Given the description of an element on the screen output the (x, y) to click on. 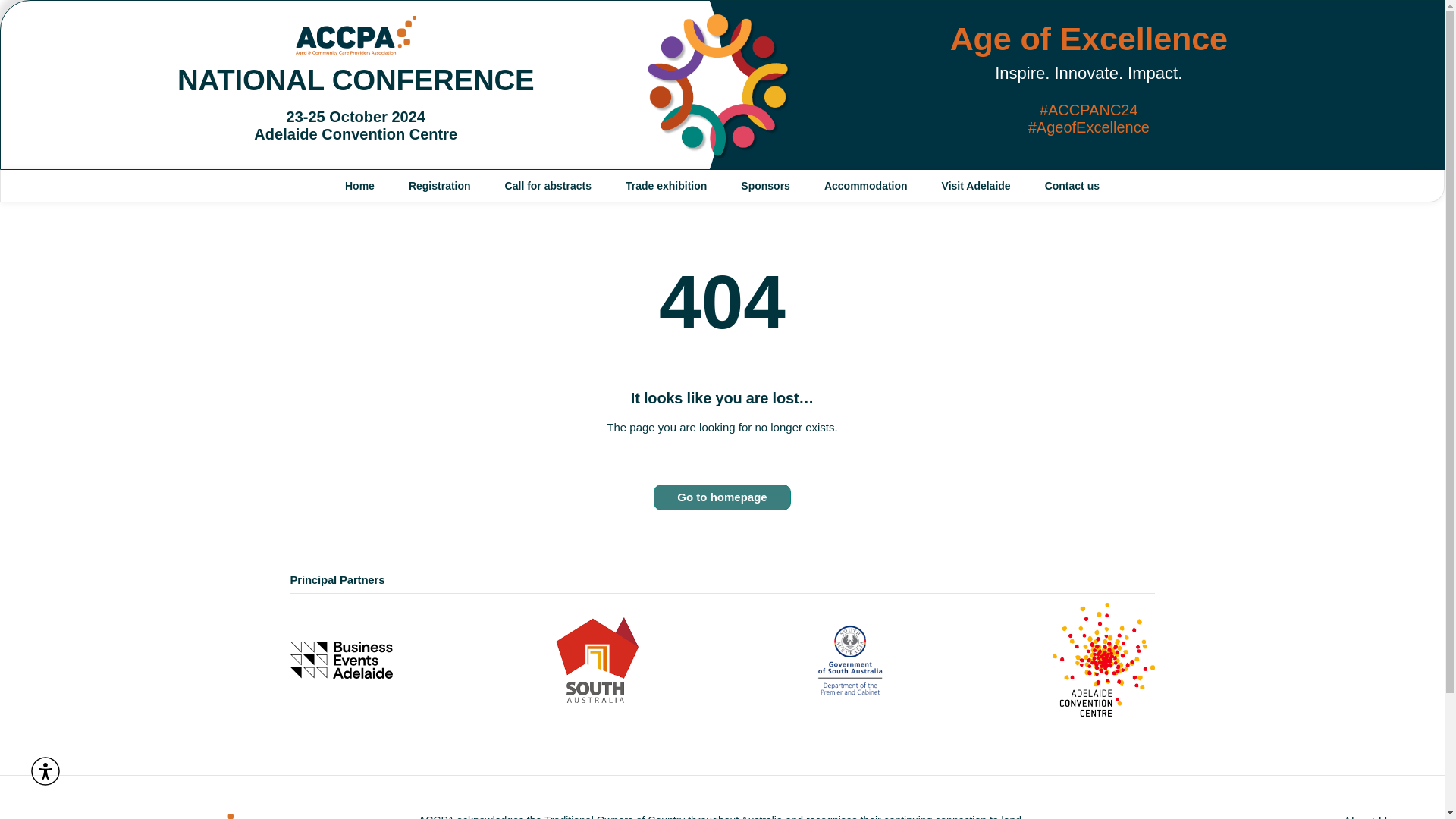
Registration (439, 185)
Visit Adelaide (976, 185)
Go to homepage (721, 497)
Call for abstracts (548, 185)
Contact us (1072, 185)
Home (360, 185)
About Us (1227, 816)
Sponsors (765, 185)
Accommodation (866, 185)
